Given the description of an element on the screen output the (x, y) to click on. 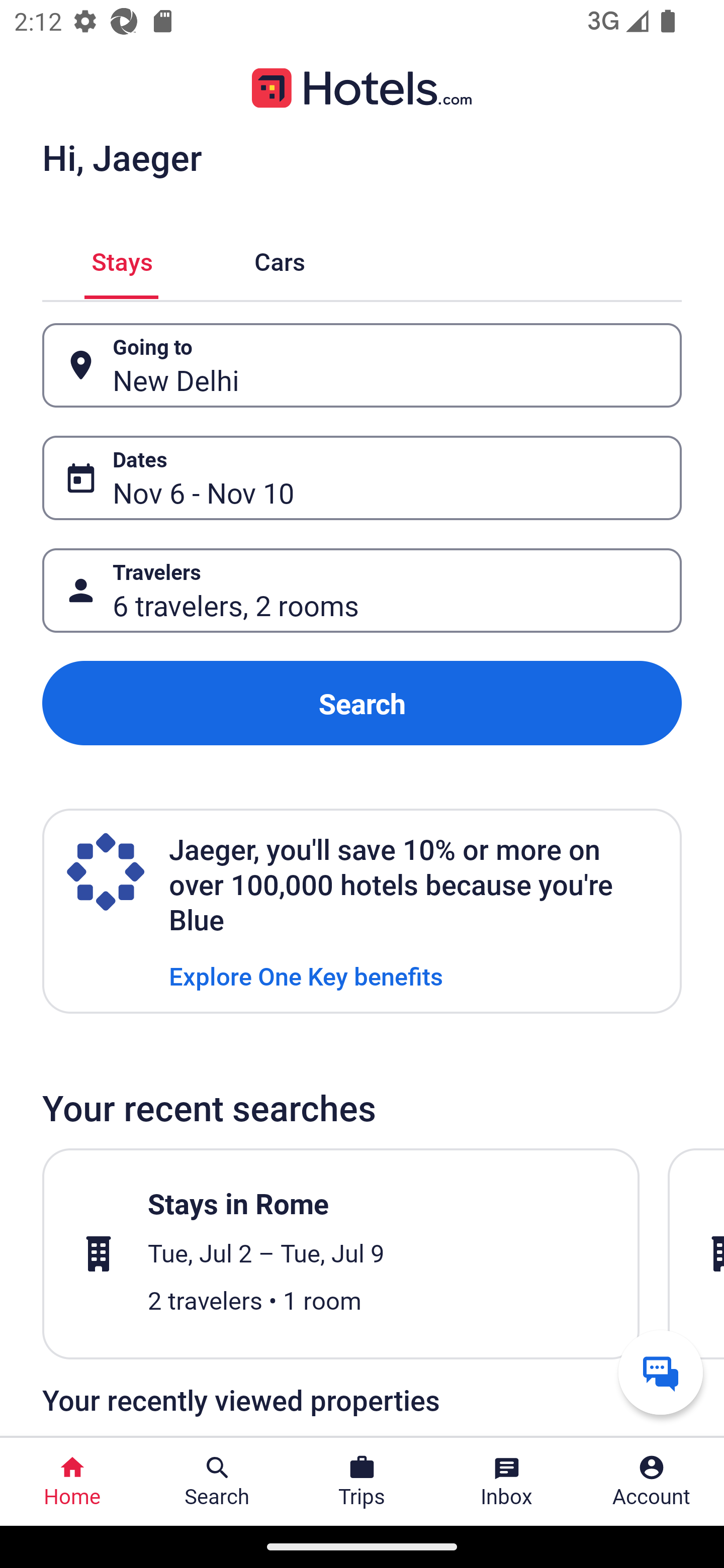
Hi, Jaeger (121, 156)
Cars (279, 259)
Going to Button New Delhi (361, 365)
Dates Button Nov 6 - Nov 10 (361, 477)
Travelers Button 6 travelers, 2 rooms (361, 590)
Search (361, 702)
Get help from a virtual agent (660, 1371)
Search Search Button (216, 1481)
Trips Trips Button (361, 1481)
Inbox Inbox Button (506, 1481)
Account Profile. Button (651, 1481)
